Given the description of an element on the screen output the (x, y) to click on. 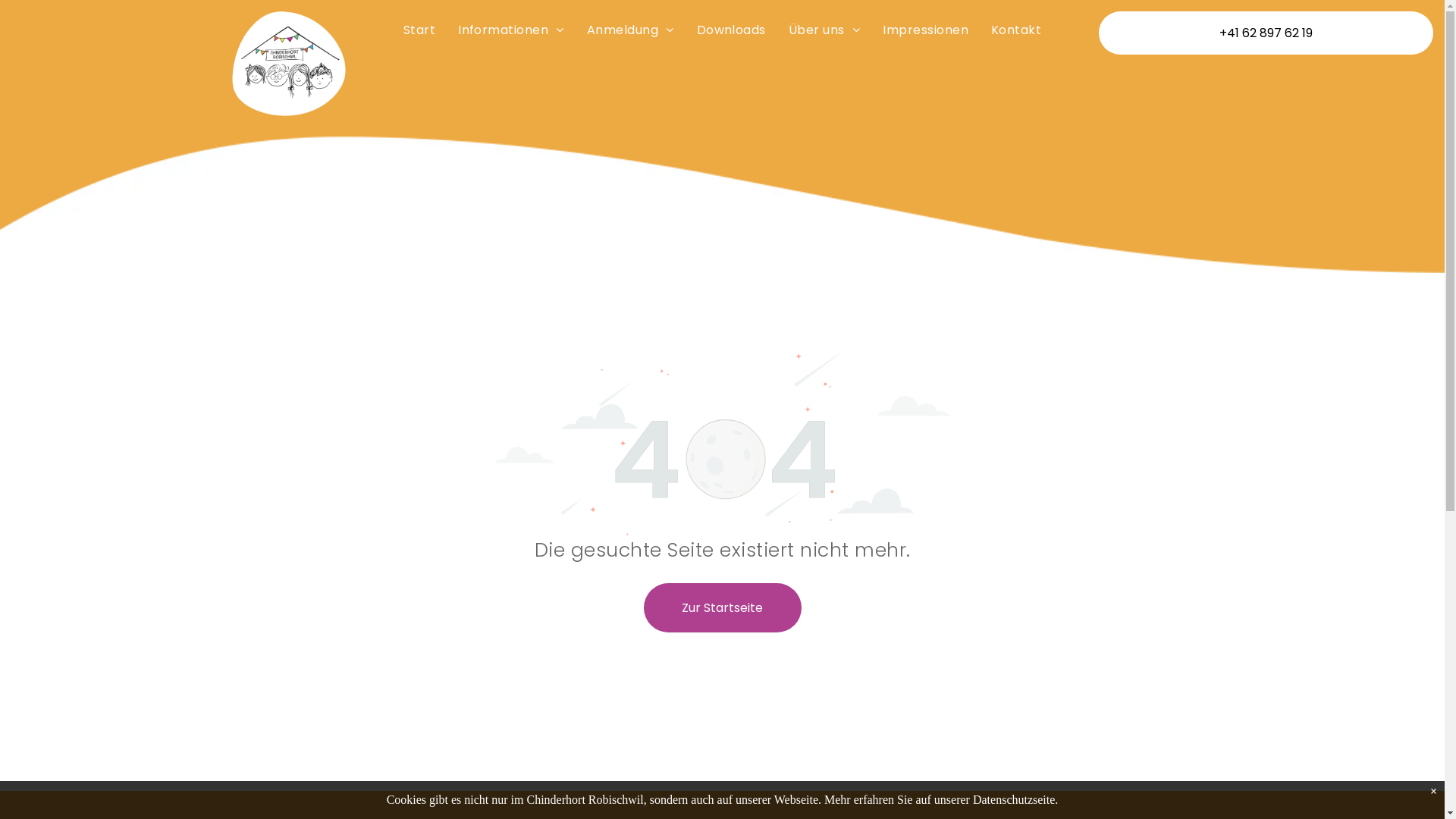
Anmeldung Element type: text (630, 29)
Zur Startseite Element type: text (721, 606)
Downloads Element type: text (731, 29)
Chinderhort Robischwil Element type: hover (288, 63)
+41 62 897 62 19 Element type: text (1265, 32)
Datenschutzseite Element type: text (1013, 799)
Start Element type: text (419, 29)
Impressionen Element type: text (925, 29)
Informationen Element type: text (510, 29)
Kontakt Element type: text (1015, 29)
